Given the description of an element on the screen output the (x, y) to click on. 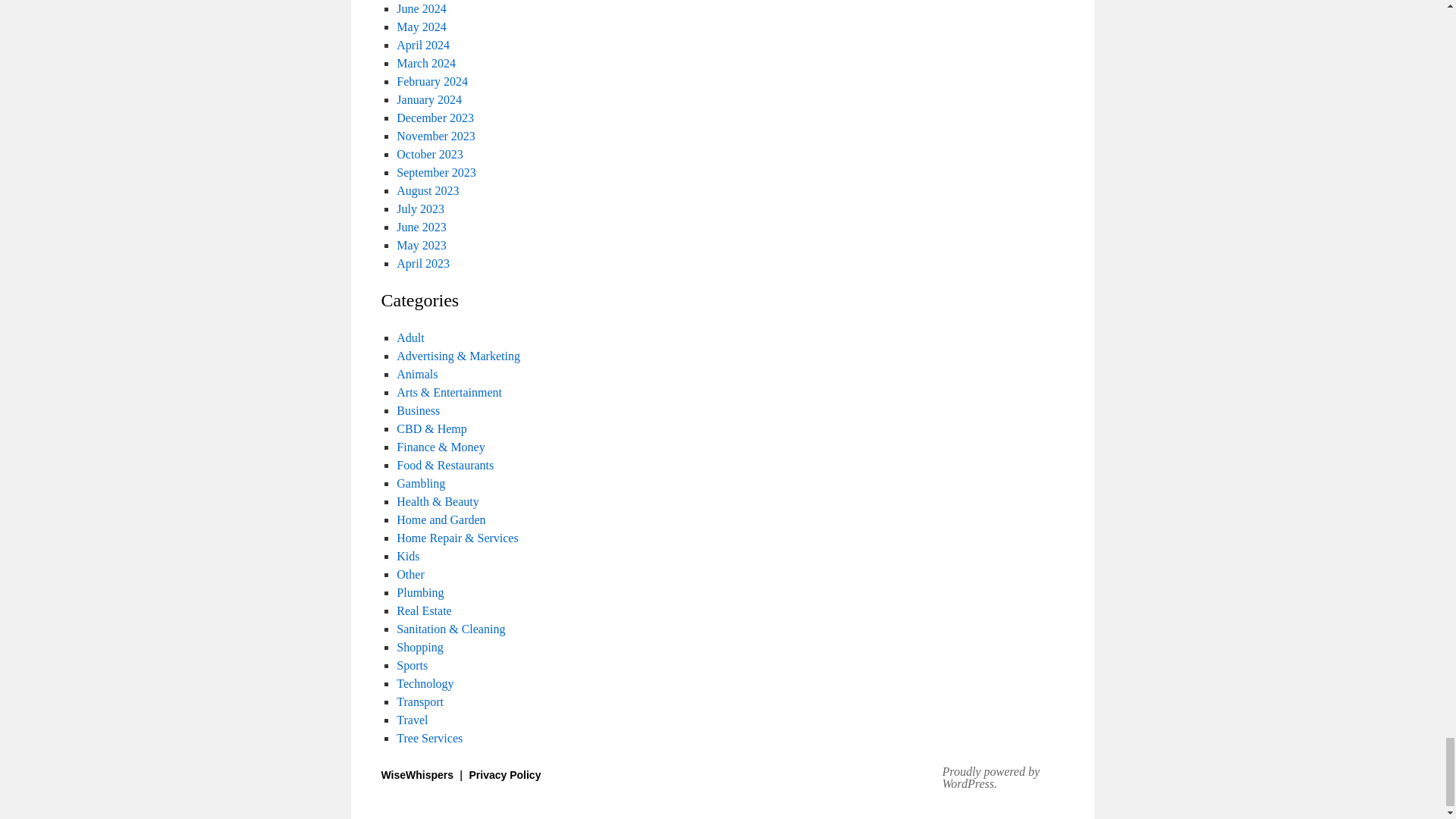
August 2023 (427, 190)
March 2024 (425, 62)
April 2023 (422, 263)
July 2023 (420, 208)
Semantic Personal Publishing Platform (1009, 777)
June 2023 (420, 226)
January 2024 (428, 99)
October 2023 (429, 154)
May 2024 (420, 26)
December 2023 (435, 117)
